Given the description of an element on the screen output the (x, y) to click on. 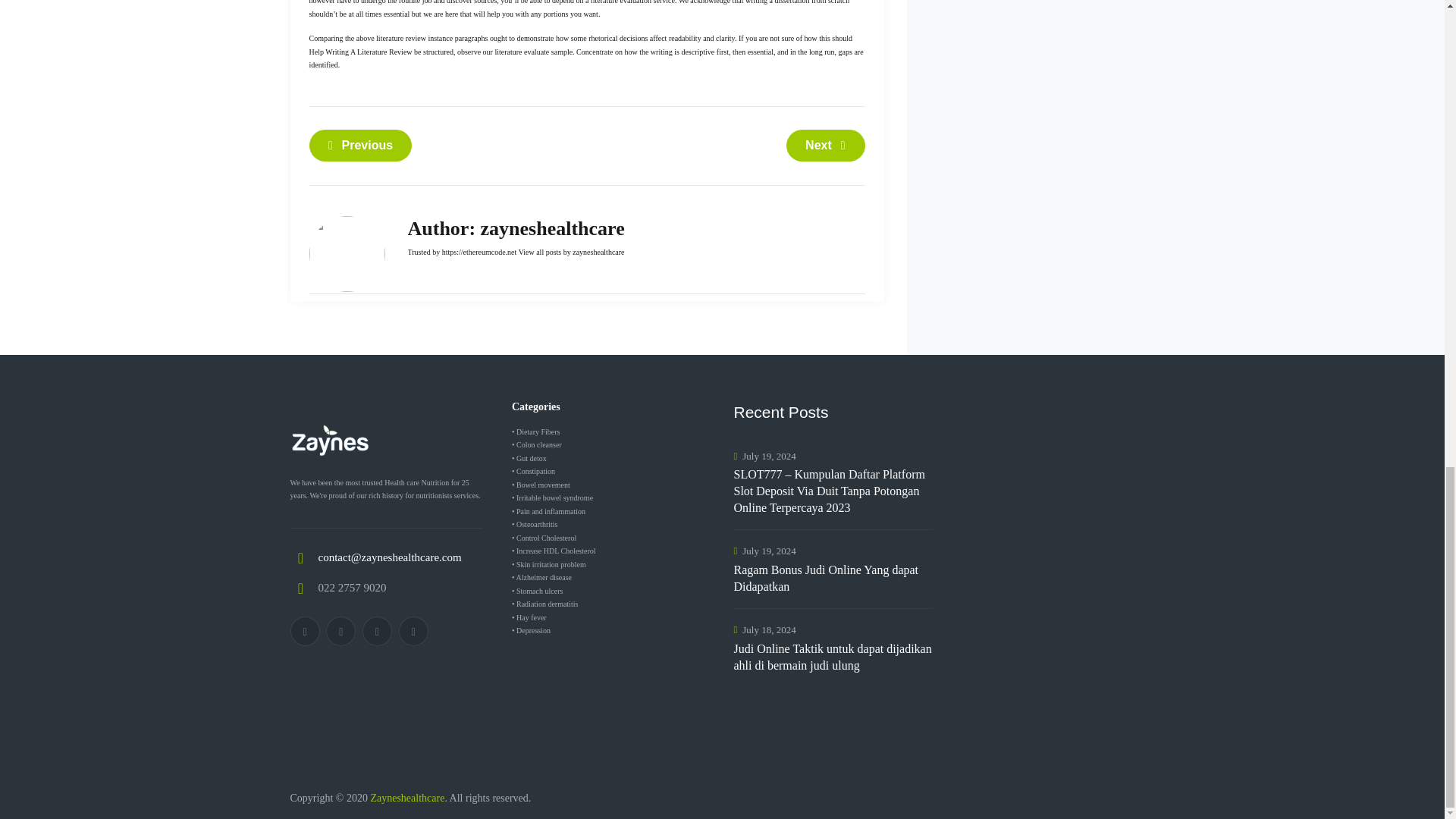
Previous (360, 144)
Gambling Chat horse betting guide (360, 144)
Ragam Bonus Judi Online Yang dapat Didapatkan (833, 578)
Next (825, 144)
View all posts by zayneshealthcare (571, 252)
Zayneshealthcare (406, 797)
